Given the description of an element on the screen output the (x, y) to click on. 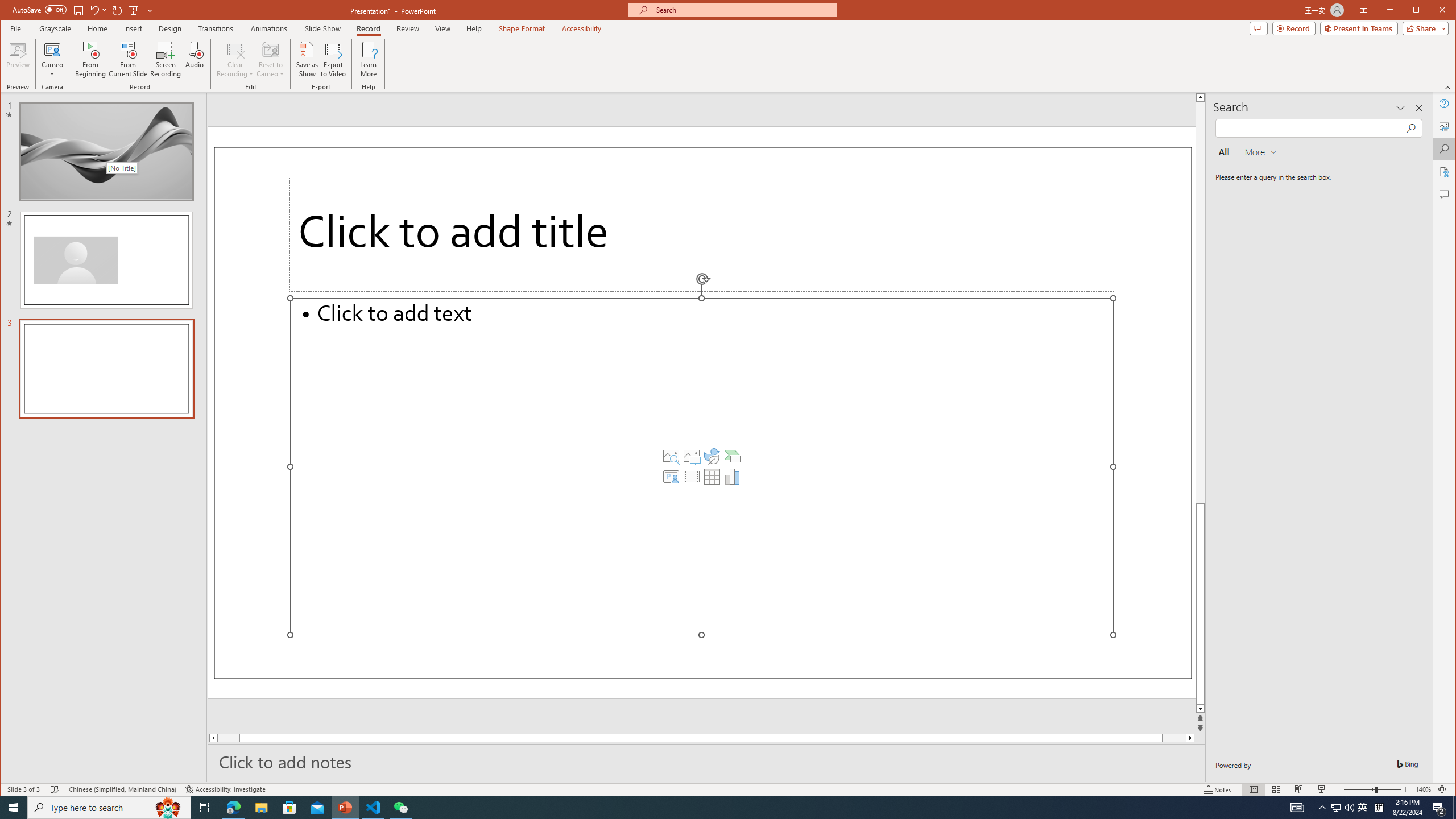
Content Placeholder (701, 466)
Insert a SmartArt Graphic (732, 456)
